Given the description of an element on the screen output the (x, y) to click on. 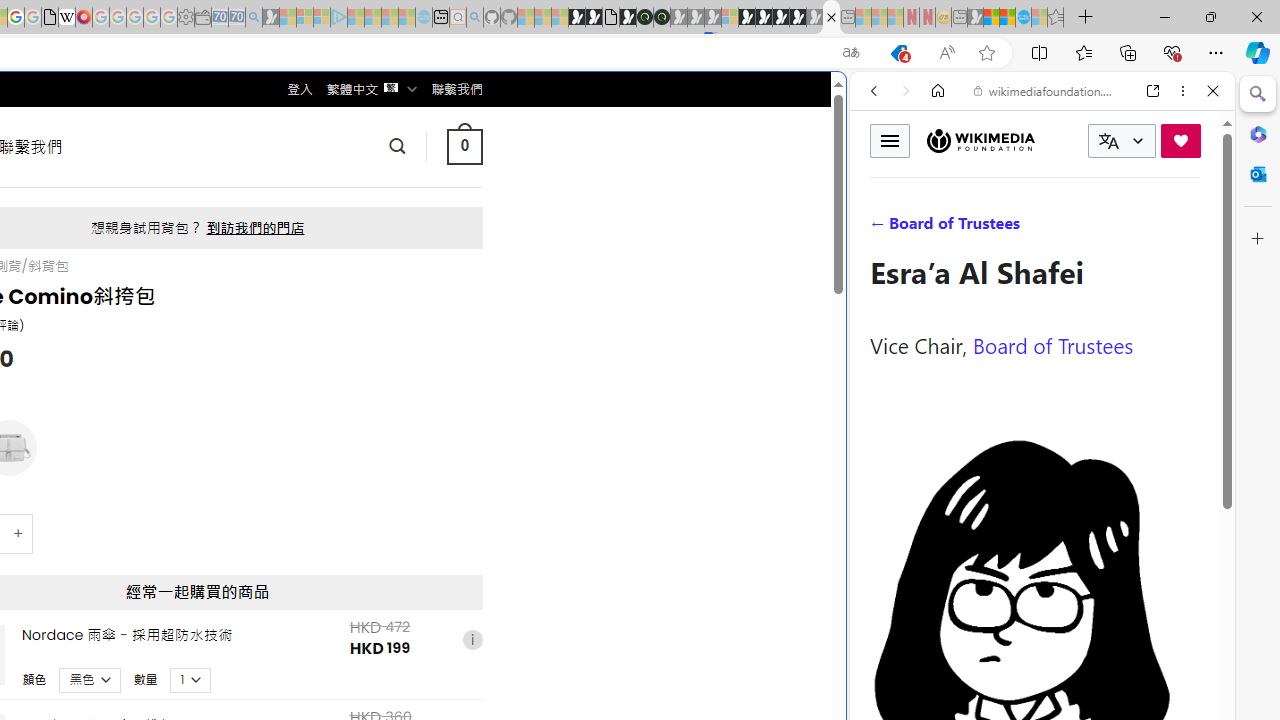
Wikimedia Foundation (980, 140)
 0  (464, 146)
Future Focus Report 2024 (661, 17)
